Given the description of an element on the screen output the (x, y) to click on. 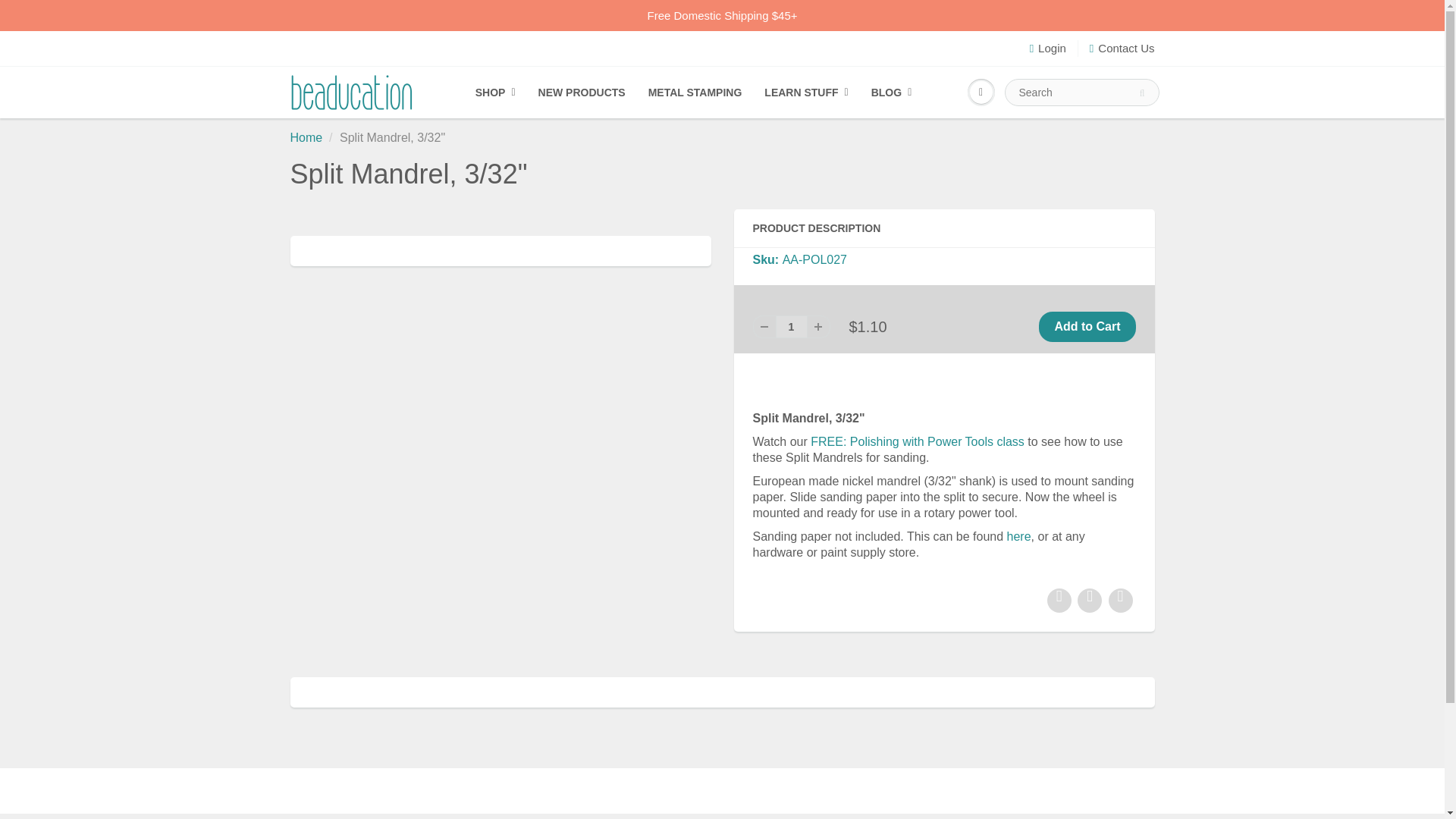
1 (790, 326)
Login (1047, 48)
Add to Cart (1087, 327)
Contact Us (1121, 48)
Home (305, 137)
SHOP (495, 92)
